Given the description of an element on the screen output the (x, y) to click on. 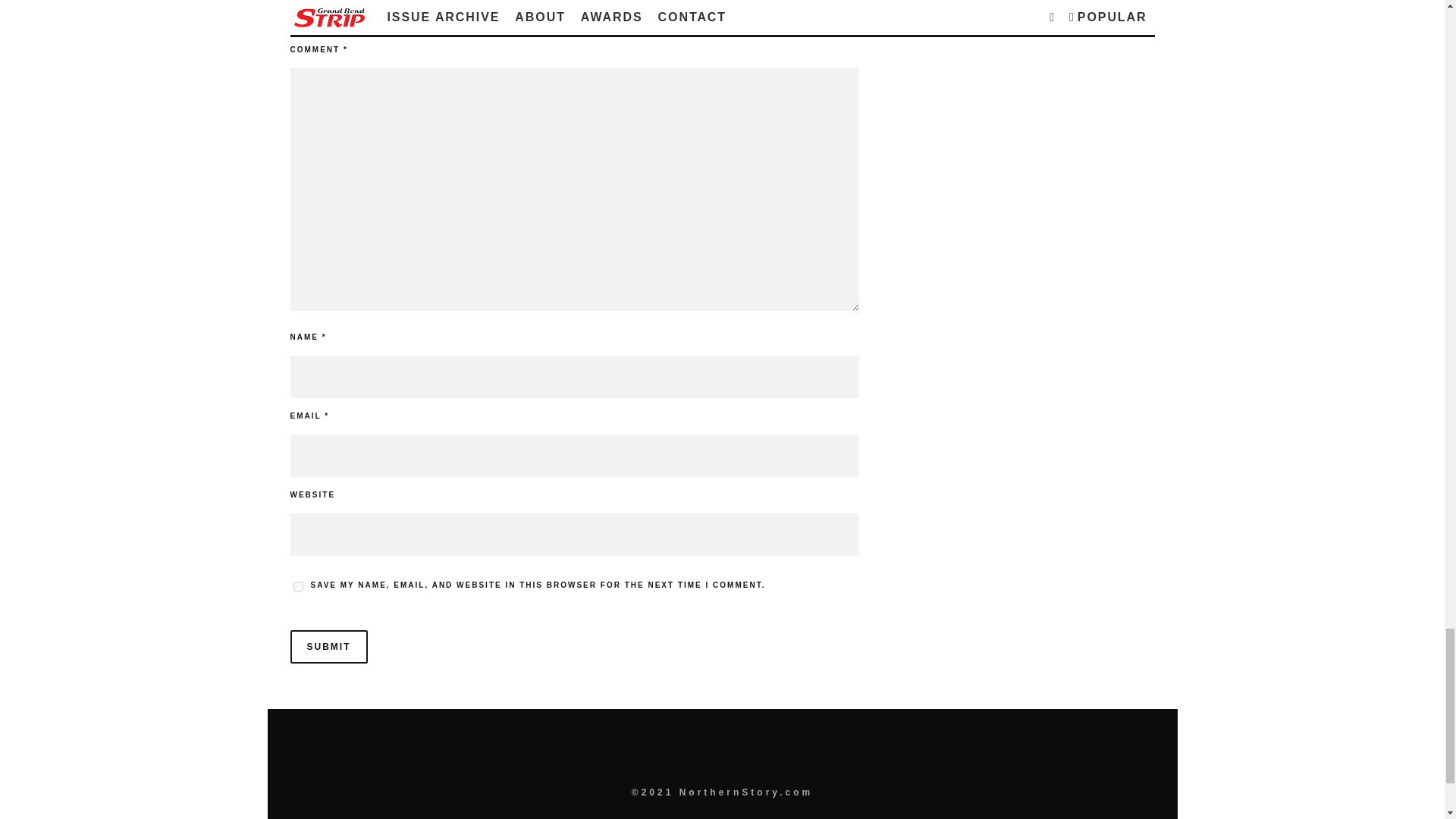
yes (297, 586)
Submit (327, 646)
